Given the description of an element on the screen output the (x, y) to click on. 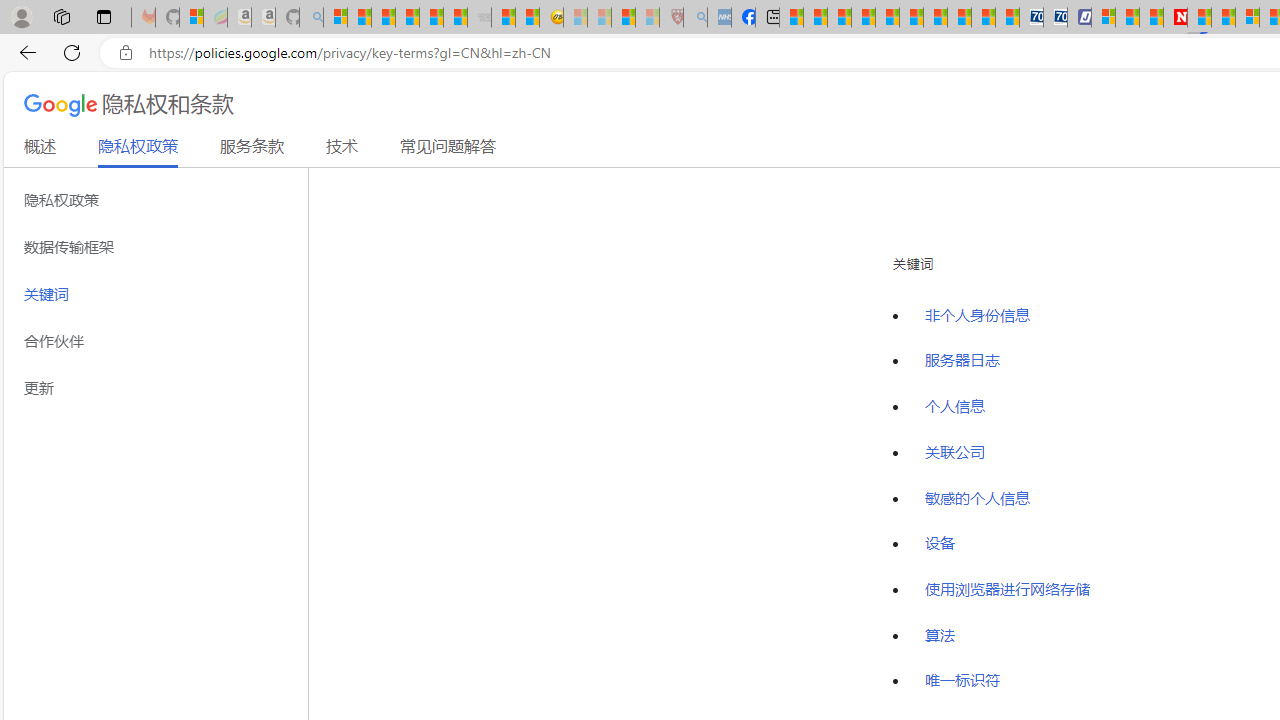
New Report Confirms 2023 Was Record Hot | Watch (430, 17)
Cheap Car Rentals - Save70.com (1031, 17)
The Weather Channel - MSN (383, 17)
